Given the description of an element on the screen output the (x, y) to click on. 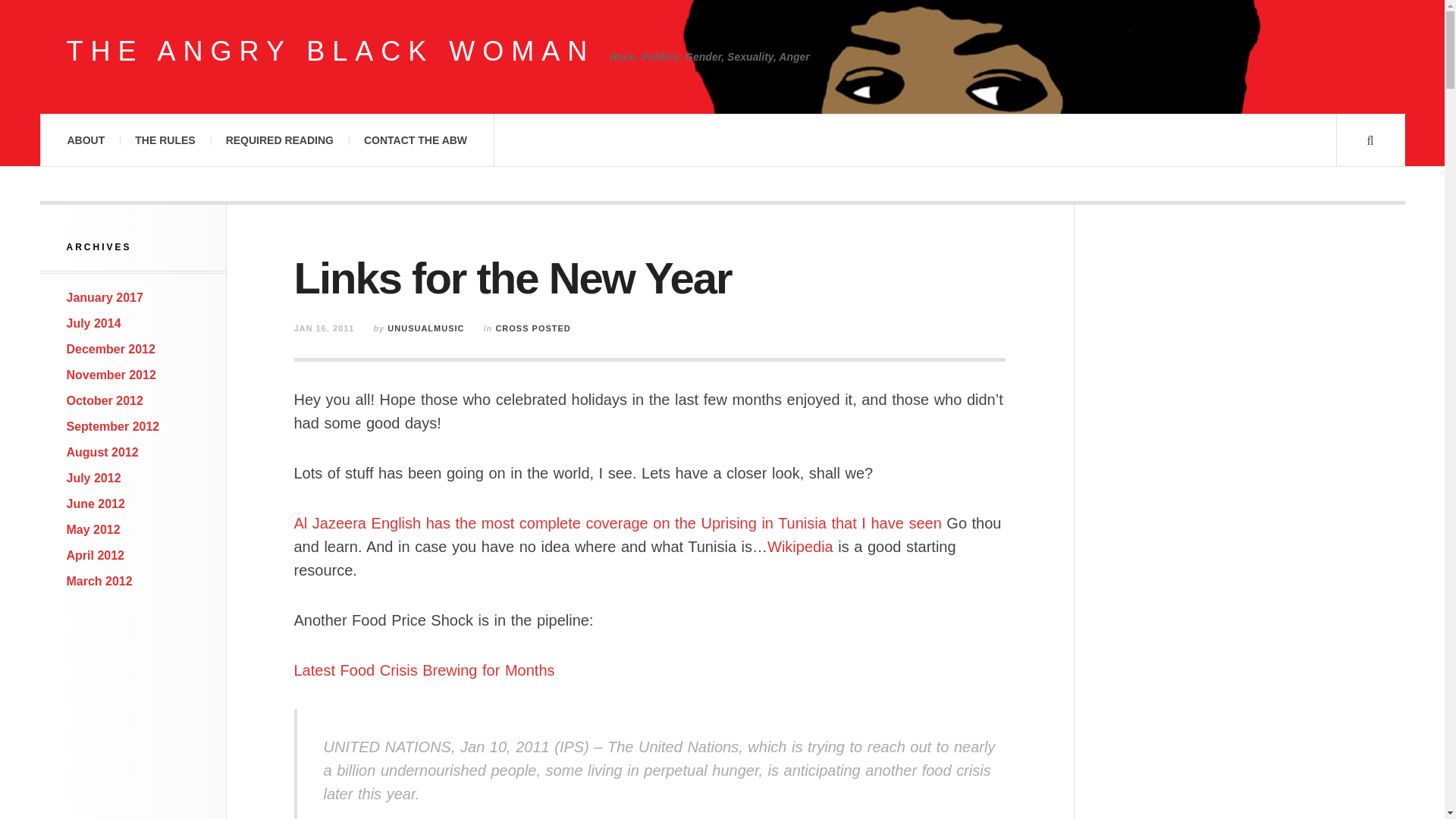
September 2012 (113, 426)
ABOUT (84, 140)
CONTACT THE ABW (415, 140)
June 2012 (95, 503)
Latest Food Crisis Brewing for Months (424, 669)
July 2012 (93, 477)
May 2012 (93, 529)
The Angry Black Woman (330, 51)
View all posts in Cross Posted (532, 327)
